Given the description of an element on the screen output the (x, y) to click on. 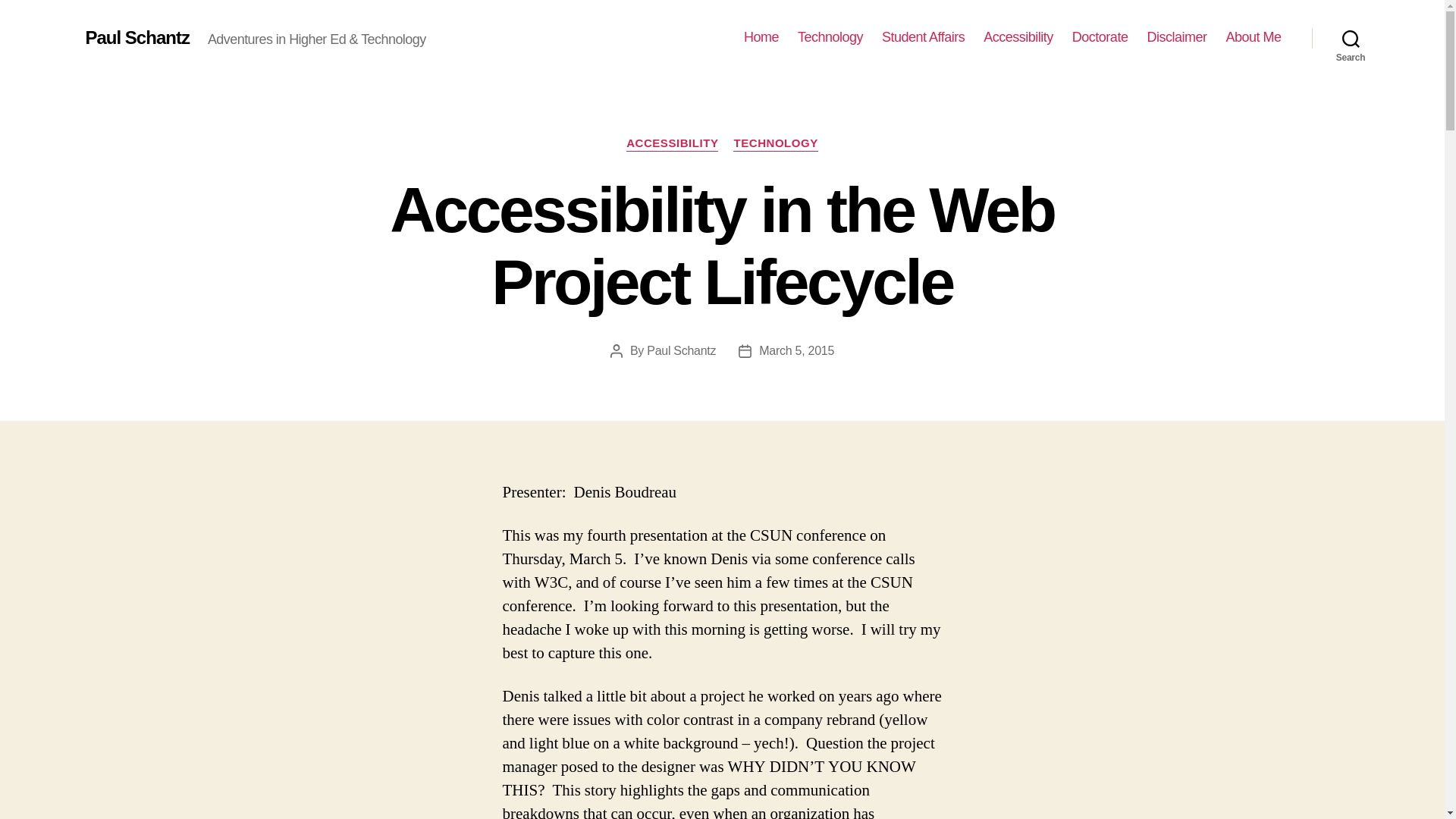
Doctorate (1099, 37)
Disclaimer (1177, 37)
March 5, 2015 (796, 350)
Search (1350, 37)
Student Affairs (922, 37)
Technology (830, 37)
Paul Schantz (681, 350)
TECHNOLOGY (774, 143)
About Me (1253, 37)
Home (761, 37)
